Given the description of an element on the screen output the (x, y) to click on. 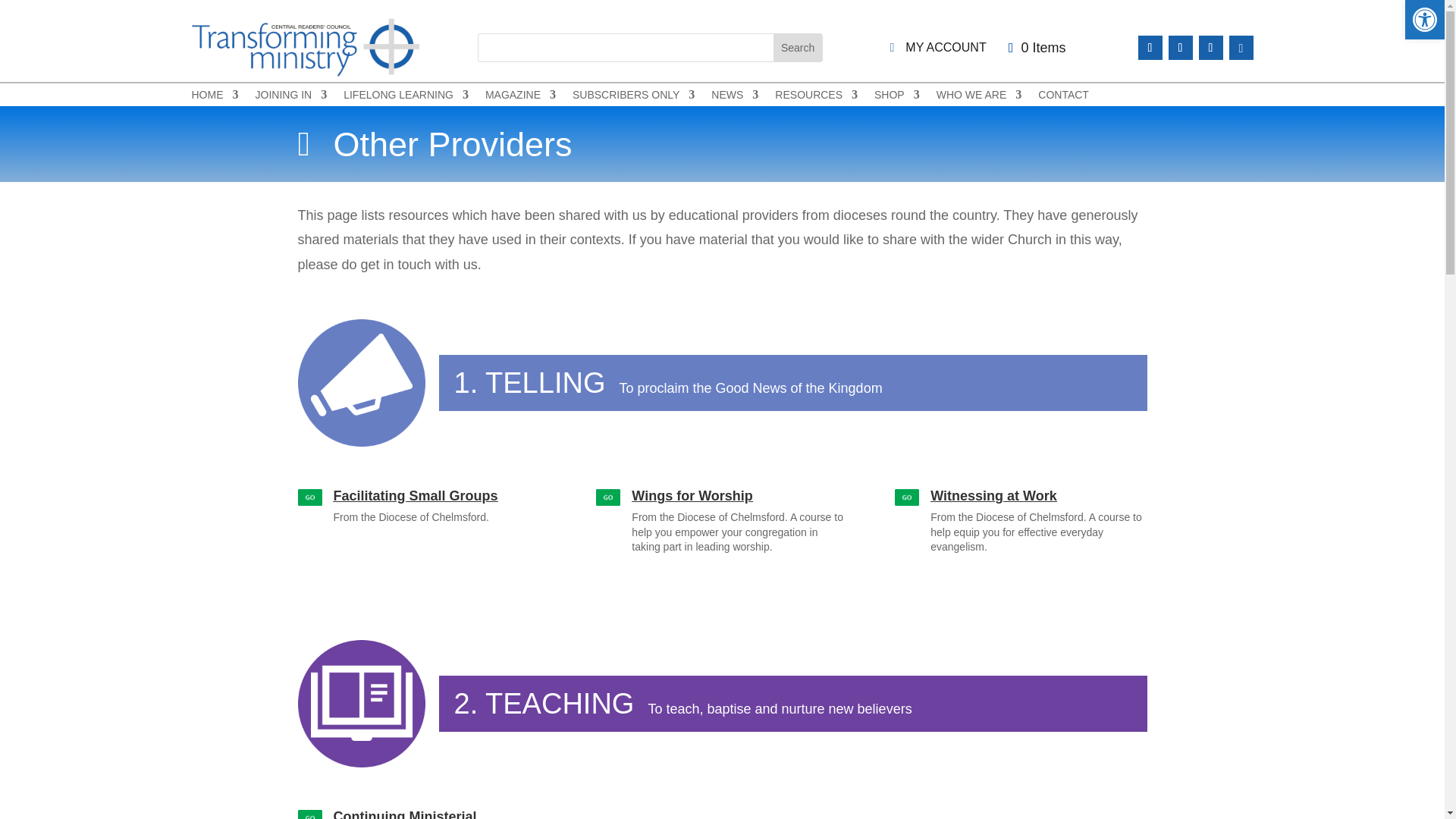
Follow on Facebook (1179, 47)
JOINING IN (290, 97)
MY ACCOUNT (937, 48)
Search (797, 47)
telling (361, 382)
Follow on Twitter (1149, 47)
Follow on Instagram (1210, 47)
teaching (361, 703)
Accessibility Tools (1424, 19)
0 Items (1037, 47)
HOME (214, 97)
Search (797, 47)
Search (797, 47)
